Given the description of an element on the screen output the (x, y) to click on. 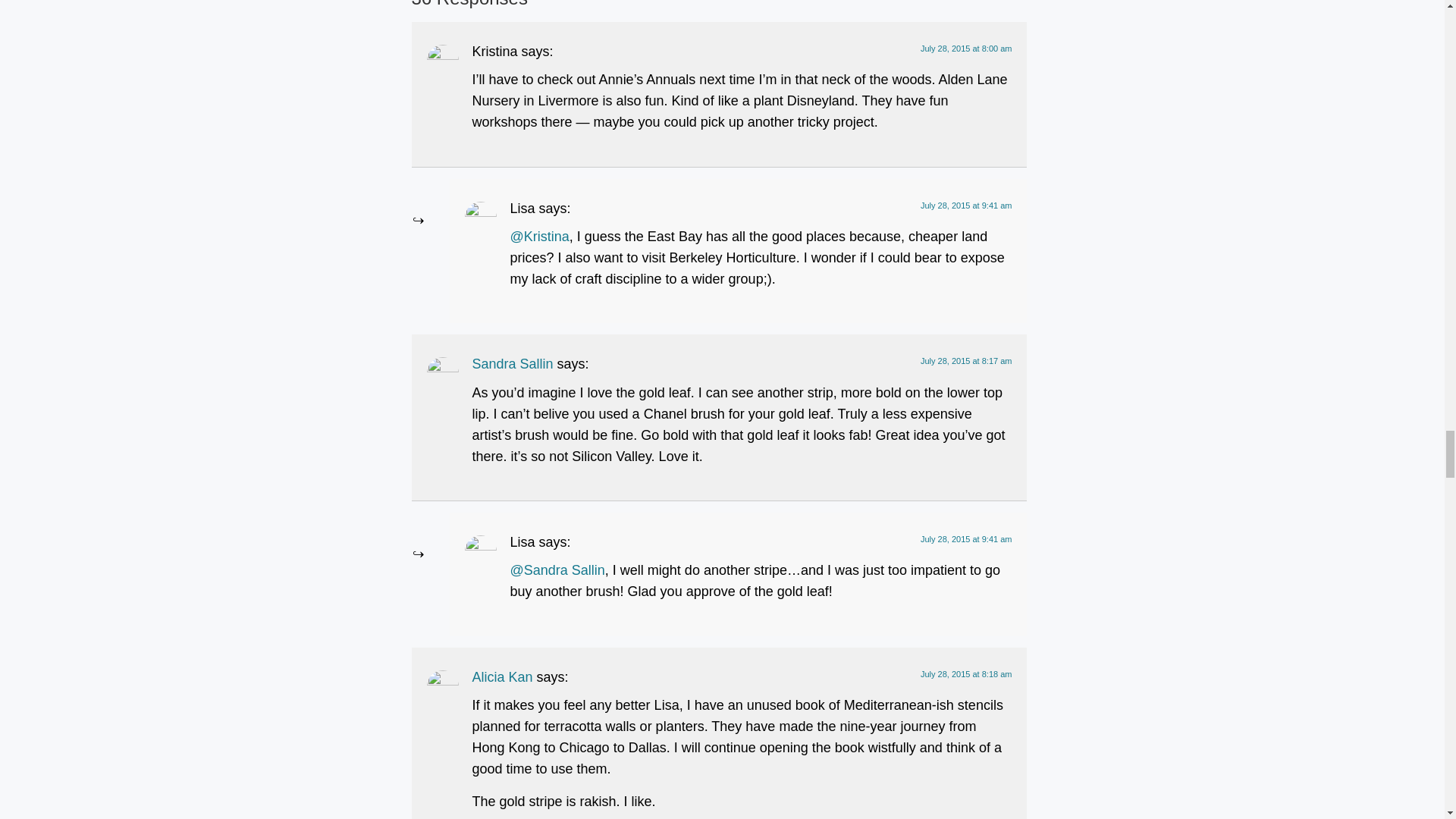
July 28, 2015 at 8:18 am (965, 673)
Alicia Kan (501, 676)
Sandra Sallin (512, 363)
July 28, 2015 at 8:17 am (965, 360)
July 28, 2015 at 9:41 am (965, 204)
July 28, 2015 at 8:00 am (965, 48)
July 28, 2015 at 9:41 am (965, 538)
